Given the description of an element on the screen output the (x, y) to click on. 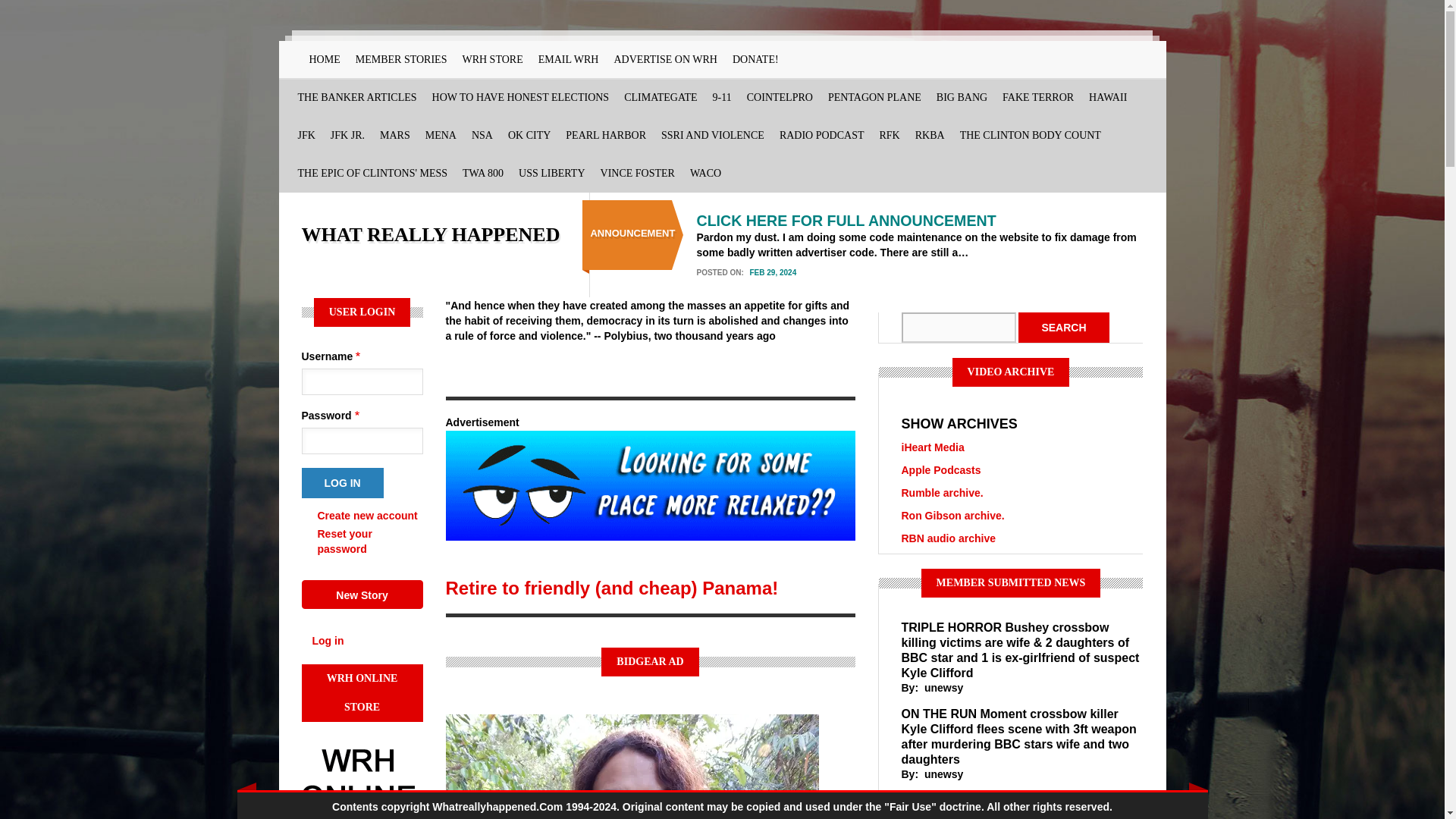
THE CLINTON BODY COUNT (1030, 135)
THE EPIC OF CLINTONS' MESS (371, 173)
encyption challenge (482, 135)
HOW TO HAVE HONEST ELECTIONS (521, 97)
MARS (394, 135)
SSRI AND VIOLENCE (712, 135)
DONATE! (755, 59)
PENTAGON PLANE (874, 97)
Log in (342, 482)
VINCE FOSTER (637, 173)
PEARL HARBOR (605, 135)
Home (430, 234)
NSA (482, 135)
Send password reset instructions via email. (344, 541)
EMAIL WRH (569, 59)
